Given the description of an element on the screen output the (x, y) to click on. 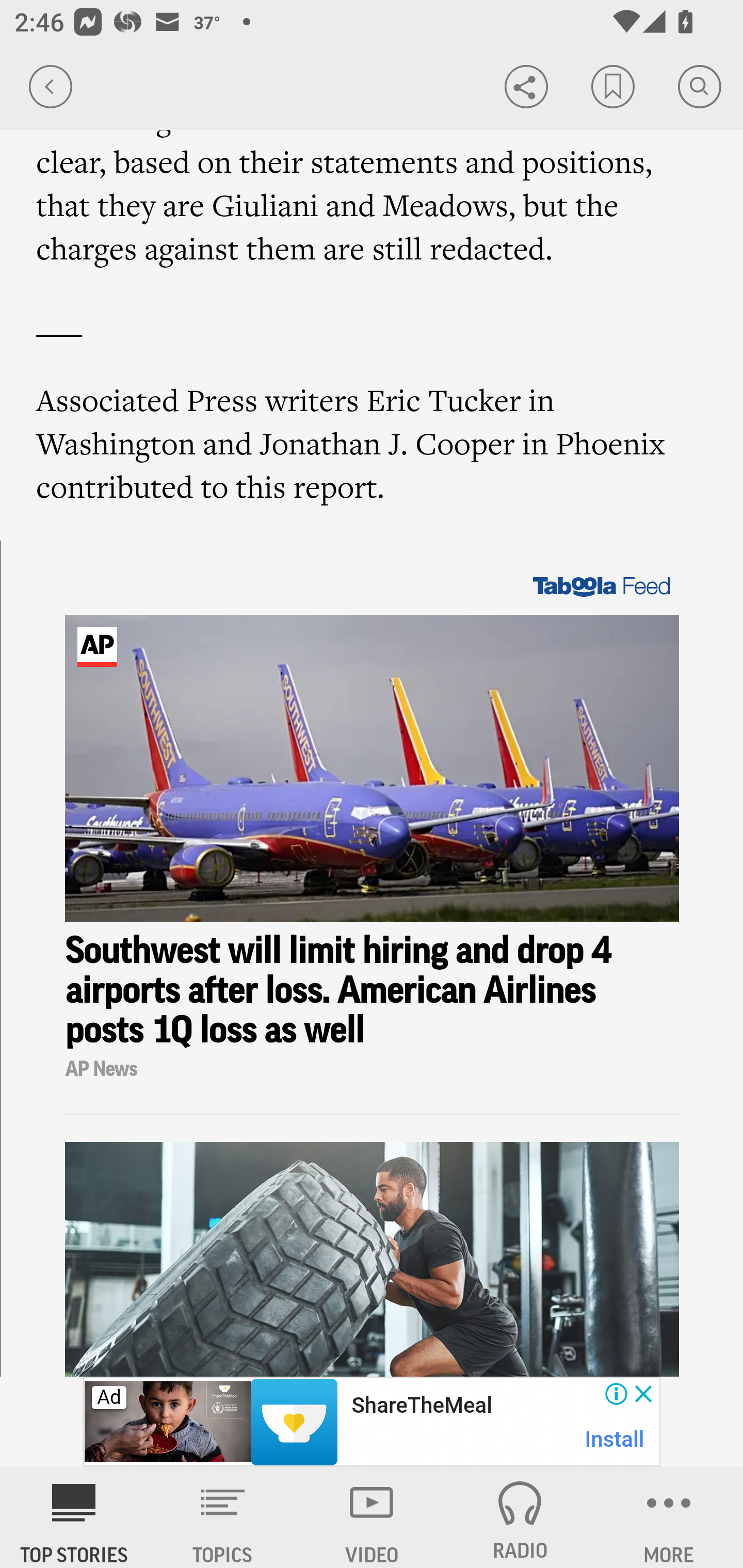
Image for Taboola Advertising Unit (372, 768)
ShareTheMeal (420, 1405)
Install (614, 1438)
AP News TOP STORIES (74, 1517)
TOPICS (222, 1517)
VIDEO (371, 1517)
RADIO (519, 1517)
MORE (668, 1517)
